Given the description of an element on the screen output the (x, y) to click on. 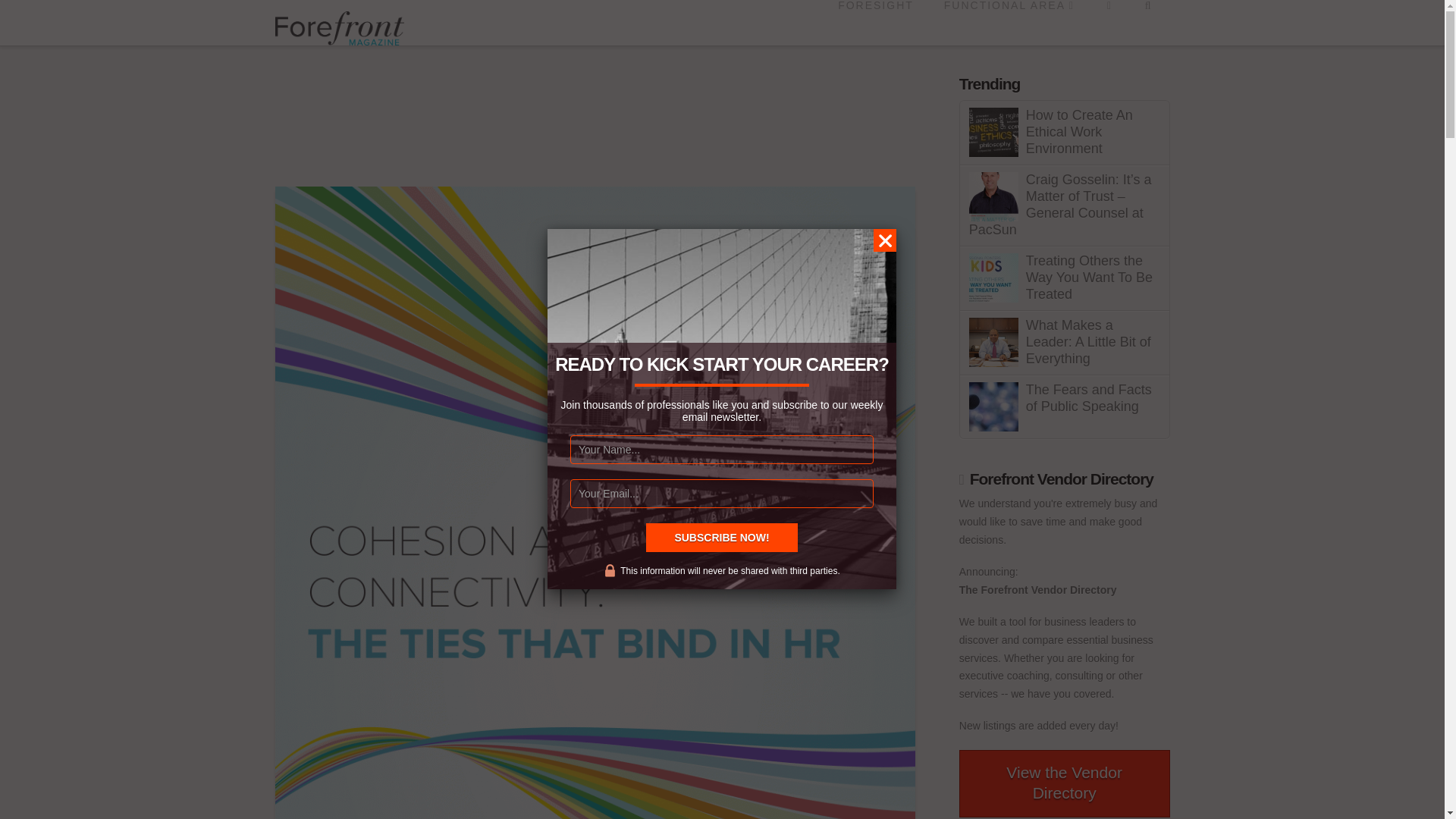
Cross Functional Executive Leadership Publication (339, 24)
FUNCTIONAL AREA (1007, 22)
Subscribe Now! (721, 537)
3rd party ad content (551, 110)
FORESIGHT (875, 22)
